Given the description of an element on the screen output the (x, y) to click on. 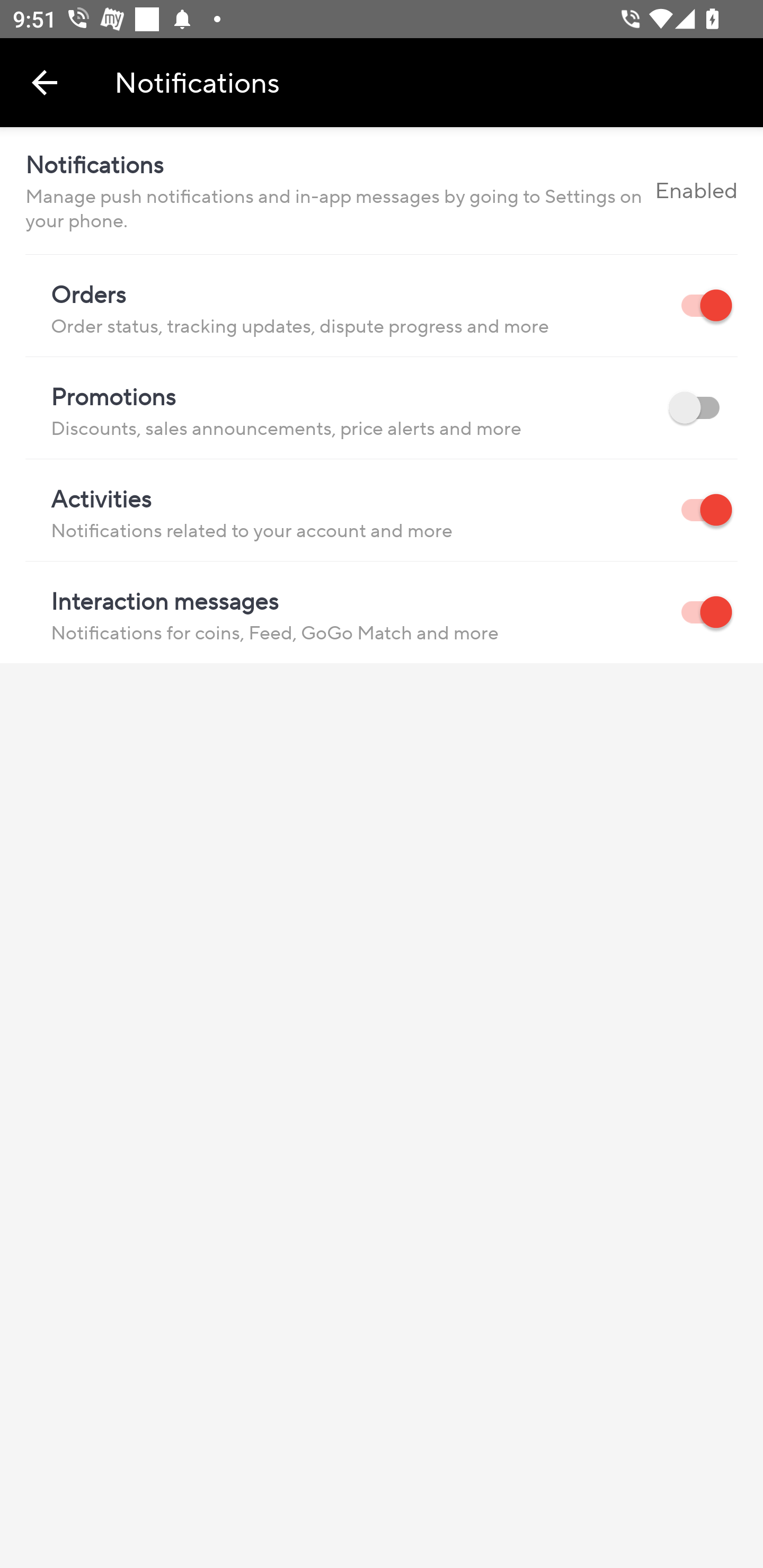
Navigate up (44, 82)
